Given the description of an element on the screen output the (x, y) to click on. 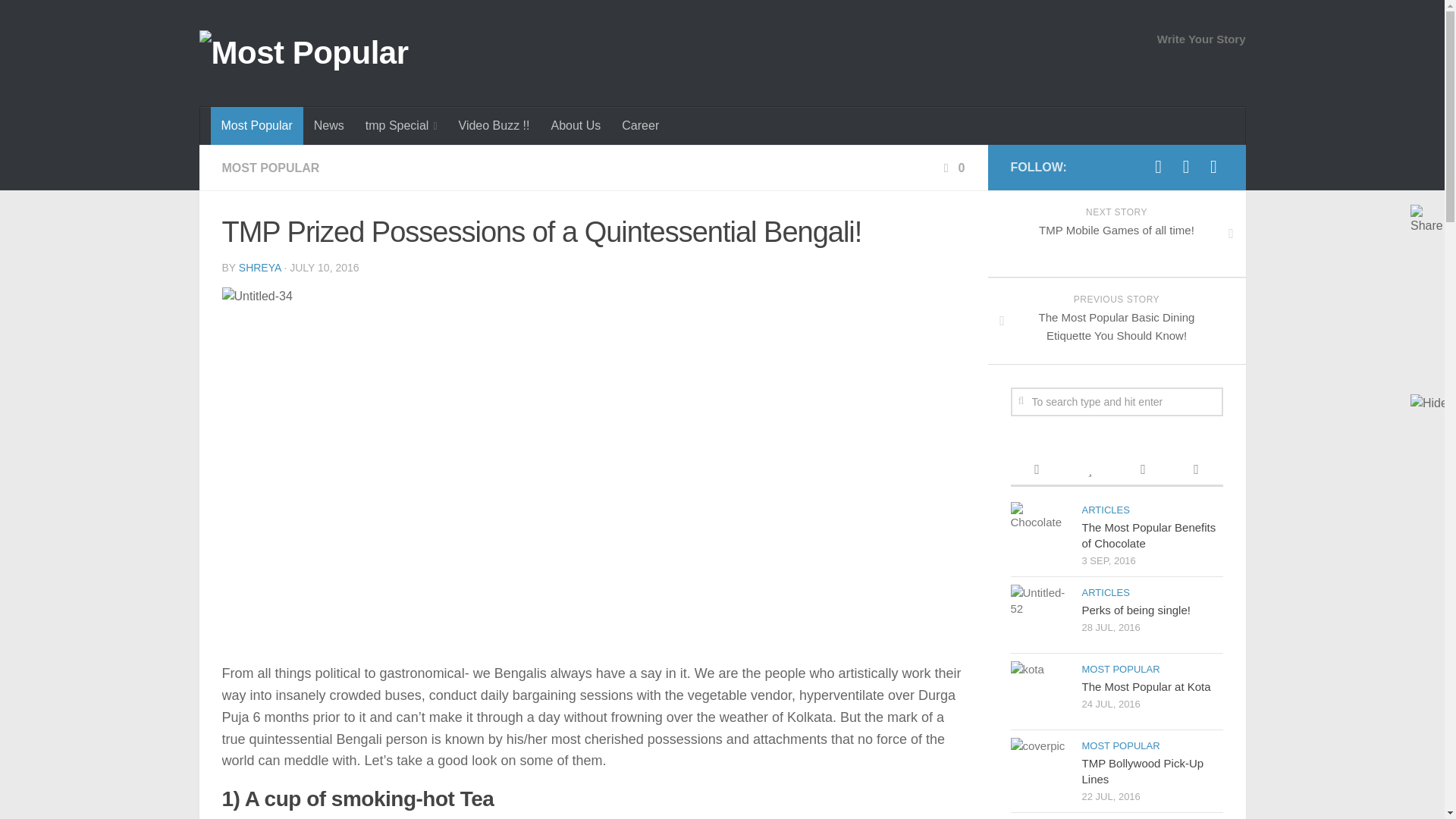
MOST POPULAR (269, 167)
To search type and hit enter (1116, 401)
Recent Comments (1142, 470)
tmp Special (401, 125)
Recent Posts (1036, 470)
Write Your Story (1201, 38)
About Us (575, 125)
Twitter (1185, 167)
SHREYA (259, 267)
Facebook (1158, 167)
Most Popular (256, 125)
Posts by Shreya (259, 267)
Career (640, 125)
Instagram (1213, 167)
0 (952, 167)
